Given the description of an element on the screen output the (x, y) to click on. 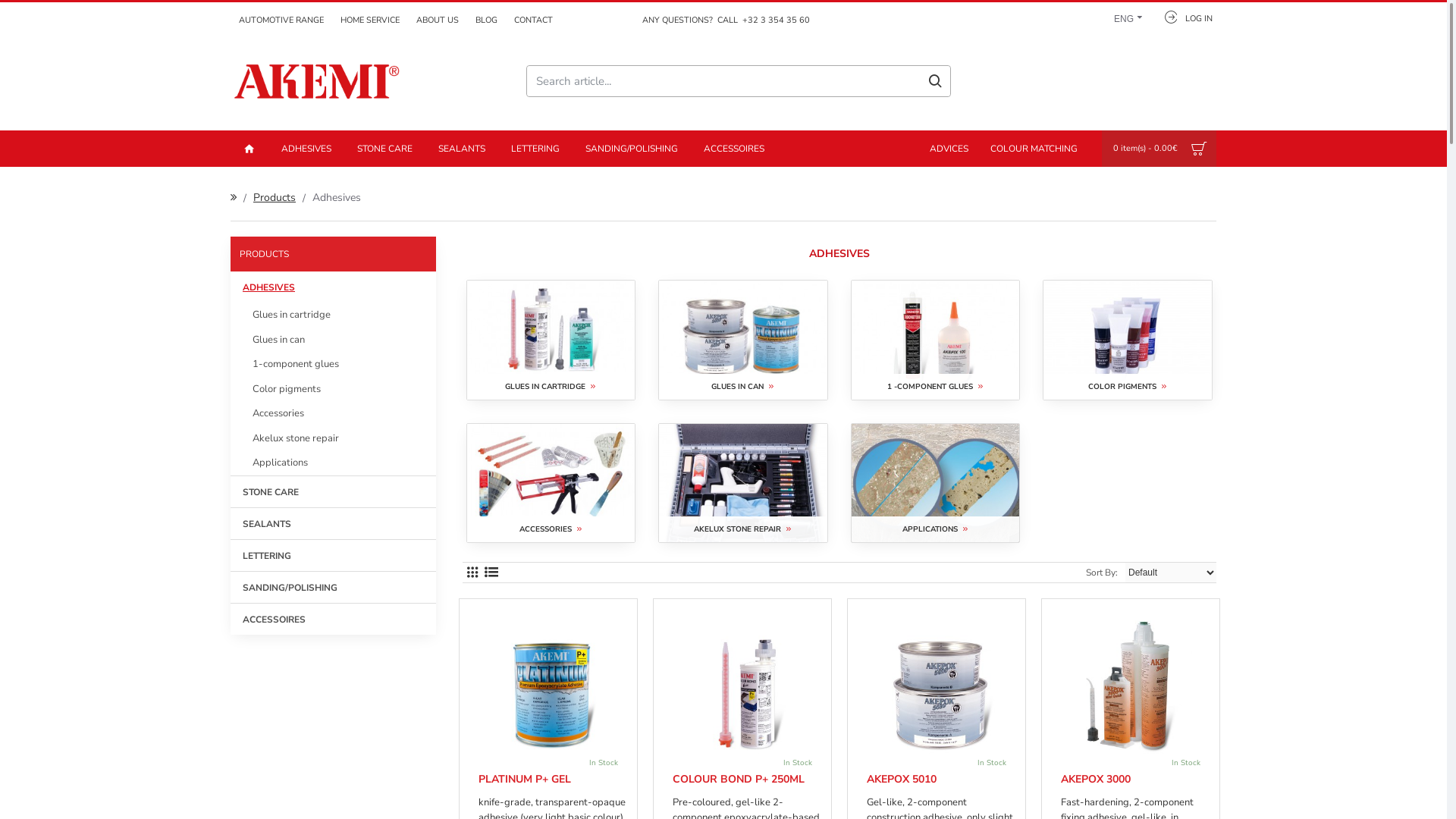
ACCESSOIRES Element type: text (733, 148)
  ANY QUESTIONS?  CALL  +32 3 354 35 60 Element type: text (723, 20)
AKELUX STONE REPAIR Element type: text (742, 483)
CONTACT Element type: text (533, 20)
Accessories Element type: text (333, 413)
SANDING/POLISHING Element type: text (631, 148)
LETTERING Element type: text (535, 148)
AKEMI Benelux bv Element type: hover (317, 80)
ADHESIVES Element type: text (306, 148)
SEALANTS Element type: text (461, 148)
PRODUCTS Element type: text (333, 253)
BLOG Element type: text (486, 20)
Glues in cartridge Element type: text (333, 314)
1 -COMPONENT GLUES Element type: text (934, 339)
APPLICATIONS Element type: text (934, 483)
STONE CARE Element type: text (384, 148)
COLOUR MATCHING Element type: text (1033, 148)
GLUES IN CARTRIDGE Element type: text (550, 339)
Products Element type: text (274, 197)
PLATINUM P+ GEL Element type: text (524, 779)
AKEPOX 3000 - CARTOUCHE 50ML MINI QUICK - TRANSPARENT Element type: hover (1134, 683)
PLATINUM P+ GEL - 900ML Element type: hover (551, 683)
Glues in can Element type: text (333, 339)
Color pigments Element type: text (333, 388)
Akelux stone repair Element type: text (333, 438)
Adhesives Element type: text (336, 197)
STONE CARE Element type: text (333, 490)
ADHESIVES Element type: text (333, 286)
ACCESSORIES Element type: text (550, 483)
COLOR PIGMENTS Element type: text (1126, 339)
1-component glues Element type: text (333, 363)
ABOUT US Element type: text (437, 20)
LOG IN Element type: text (1182, 16)
SANDING/POLISHING Element type: text (333, 586)
AKEPOX 5010 Element type: text (901, 779)
AKEPOX 5010 - 2,25KG SET (A+B) IN CAN Element type: hover (940, 683)
GLUES IN CAN Element type: text (742, 339)
AUTOMOTIVE RANGE Element type: text (281, 20)
COLOUR BOND P+ 250ML - CC 2200 TRANSPARENT MAGIC Element type: hover (745, 683)
HOME SERVICE Element type: text (369, 20)
Applications Element type: text (333, 462)
ADVICES Element type: text (948, 148)
AKEPOX 3000 Element type: text (1095, 779)
LETTERING Element type: text (333, 554)
COLOUR BOND P+ 250ML Element type: text (738, 779)
ACCESSOIRES Element type: text (333, 617)
SEALANTS Element type: text (333, 522)
ENG Element type: text (1123, 16)
